Given the description of an element on the screen output the (x, y) to click on. 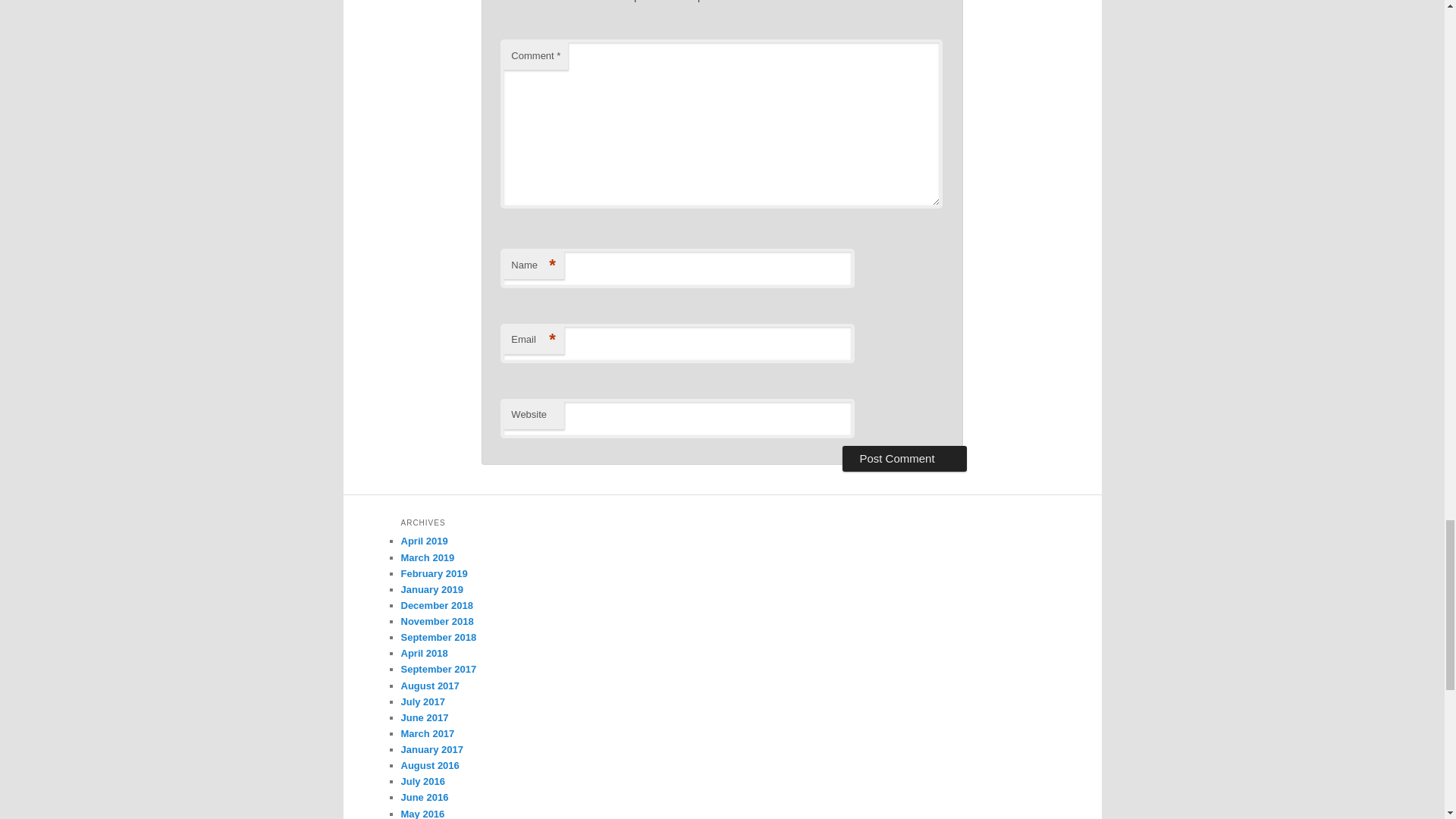
November 2018 (436, 621)
April 2019 (423, 541)
September 2017 (438, 668)
April 2018 (423, 653)
January 2019 (431, 589)
December 2018 (435, 604)
Post Comment (904, 458)
September 2018 (438, 636)
Post Comment (904, 458)
February 2019 (433, 573)
March 2019 (427, 557)
